Given the description of an element on the screen output the (x, y) to click on. 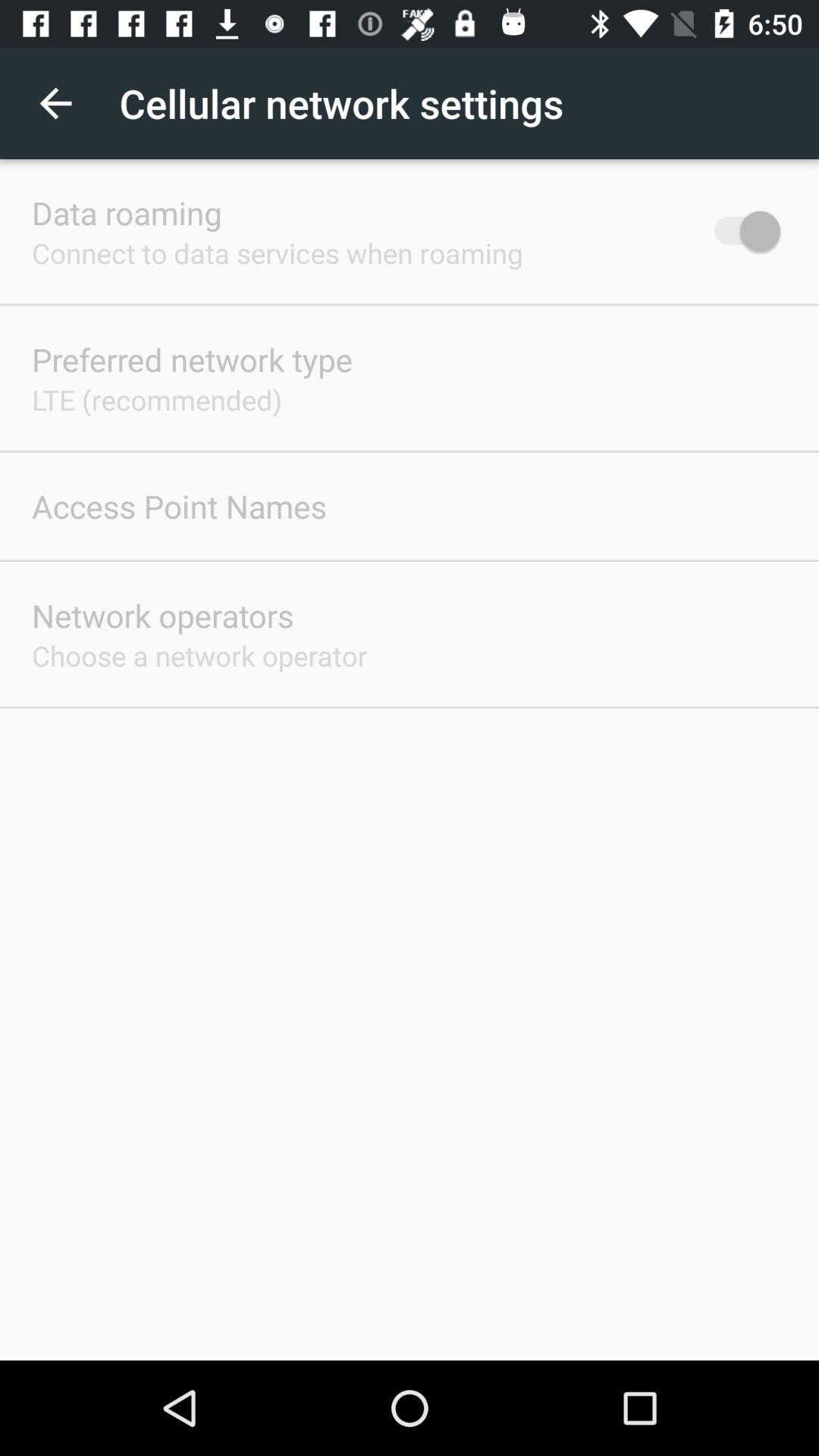
select app above preferred network type app (276, 252)
